Given the description of an element on the screen output the (x, y) to click on. 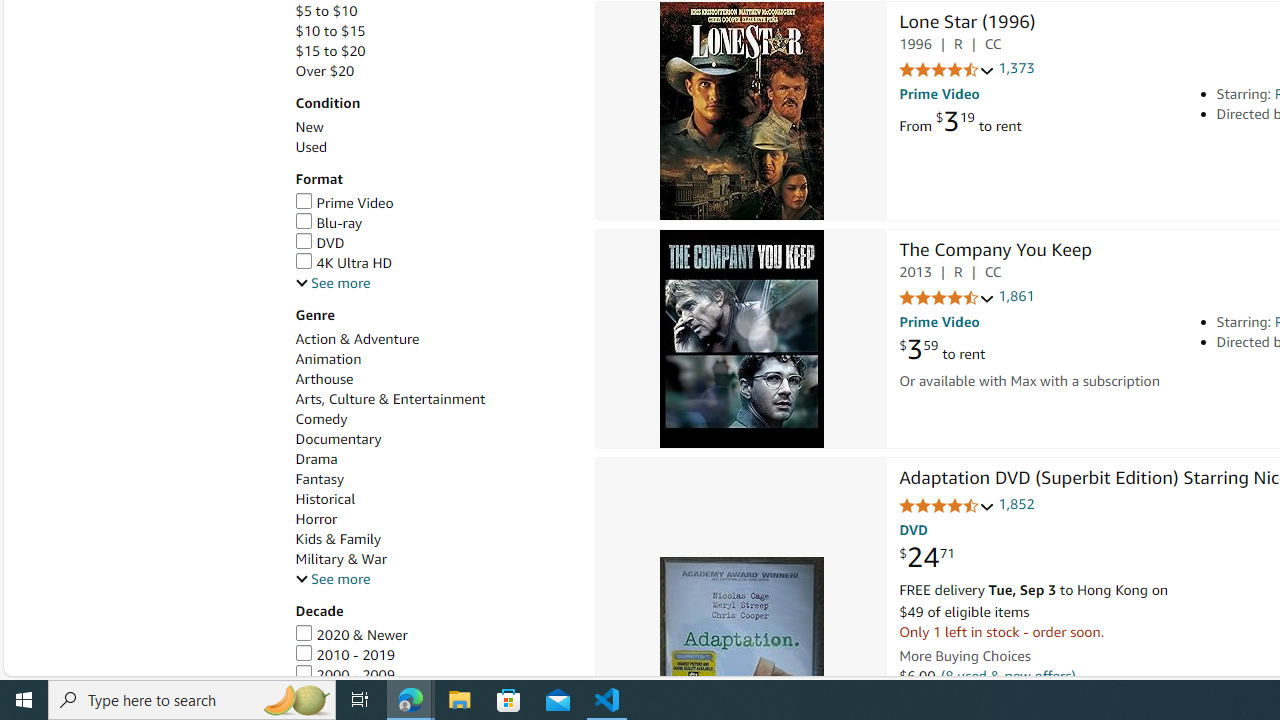
Fantasy (434, 479)
$3.59 to rent (941, 349)
Over $20 (324, 70)
See more, Format (332, 283)
Military & War (434, 559)
1,861 (1016, 296)
Drama (315, 459)
Arts, Culture & Entertainment (434, 399)
Documentary (337, 439)
New (308, 127)
See more, Genre (332, 579)
The Company You Keep (741, 339)
Blu-ray (434, 223)
4K Ultra HD (434, 263)
Prime Video (344, 202)
